Given the description of an element on the screen output the (x, y) to click on. 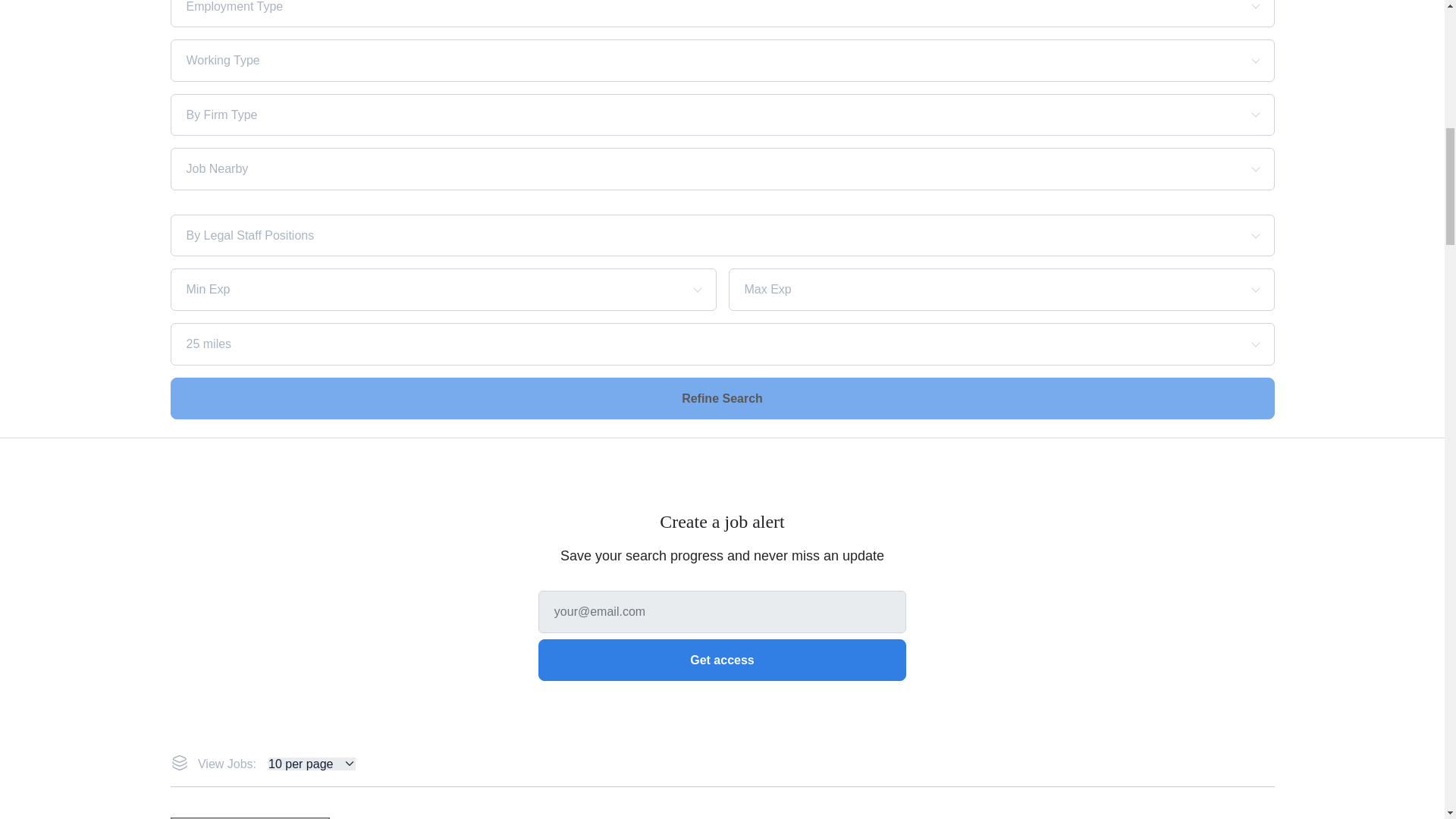
Max Exp (975, 289)
25 miles (668, 344)
Min Exp (417, 289)
By Legal Staff Positions (668, 235)
Refine Search (722, 398)
Search Jobs (722, 398)
Employment Type (668, 6)
Job Nearby (668, 169)
By Firm Type (668, 115)
Working Type (668, 60)
